Given the description of an element on the screen output the (x, y) to click on. 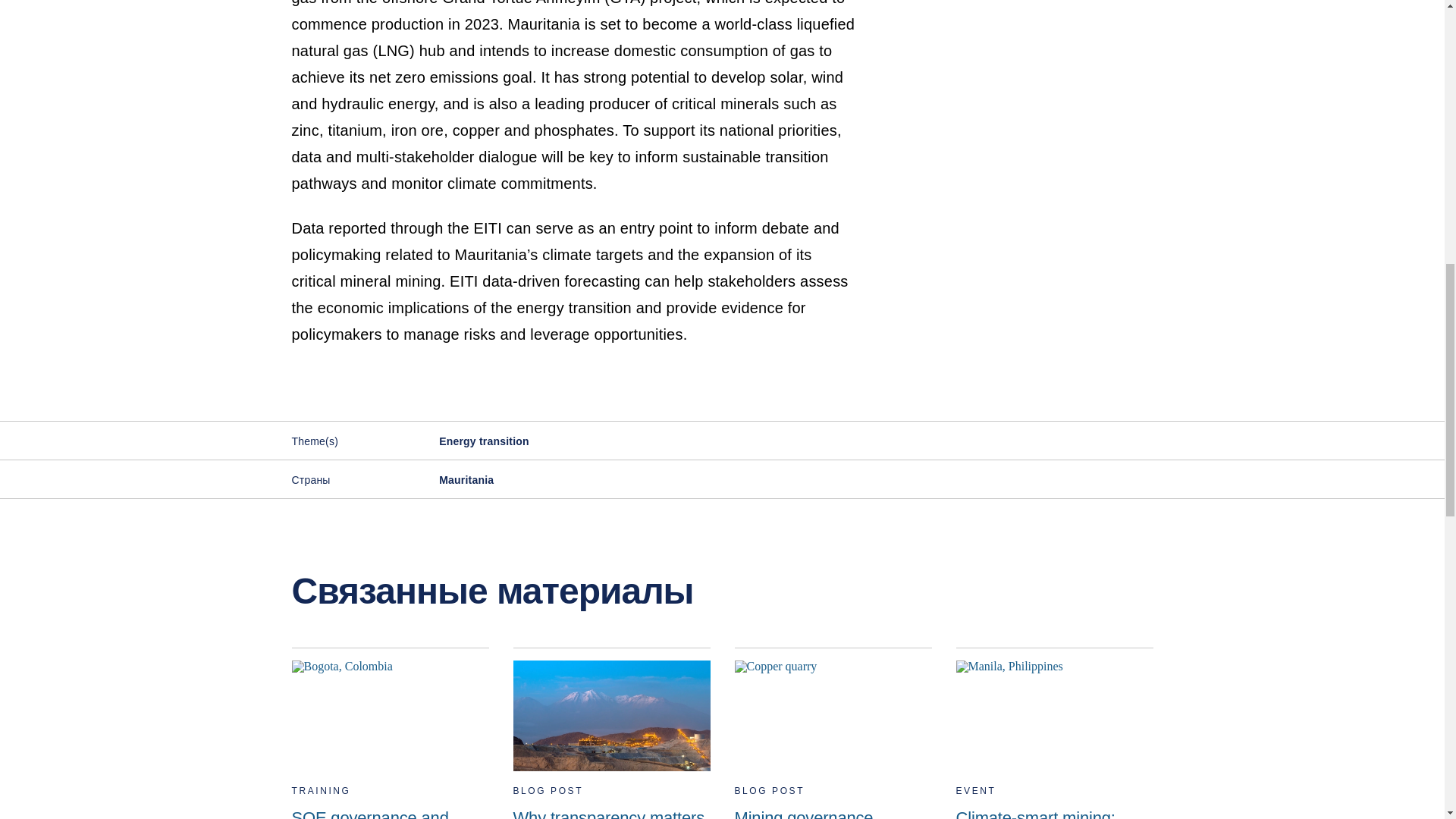
Mining governance matters for a just energy transition (832, 733)
